Given the description of an element on the screen output the (x, y) to click on. 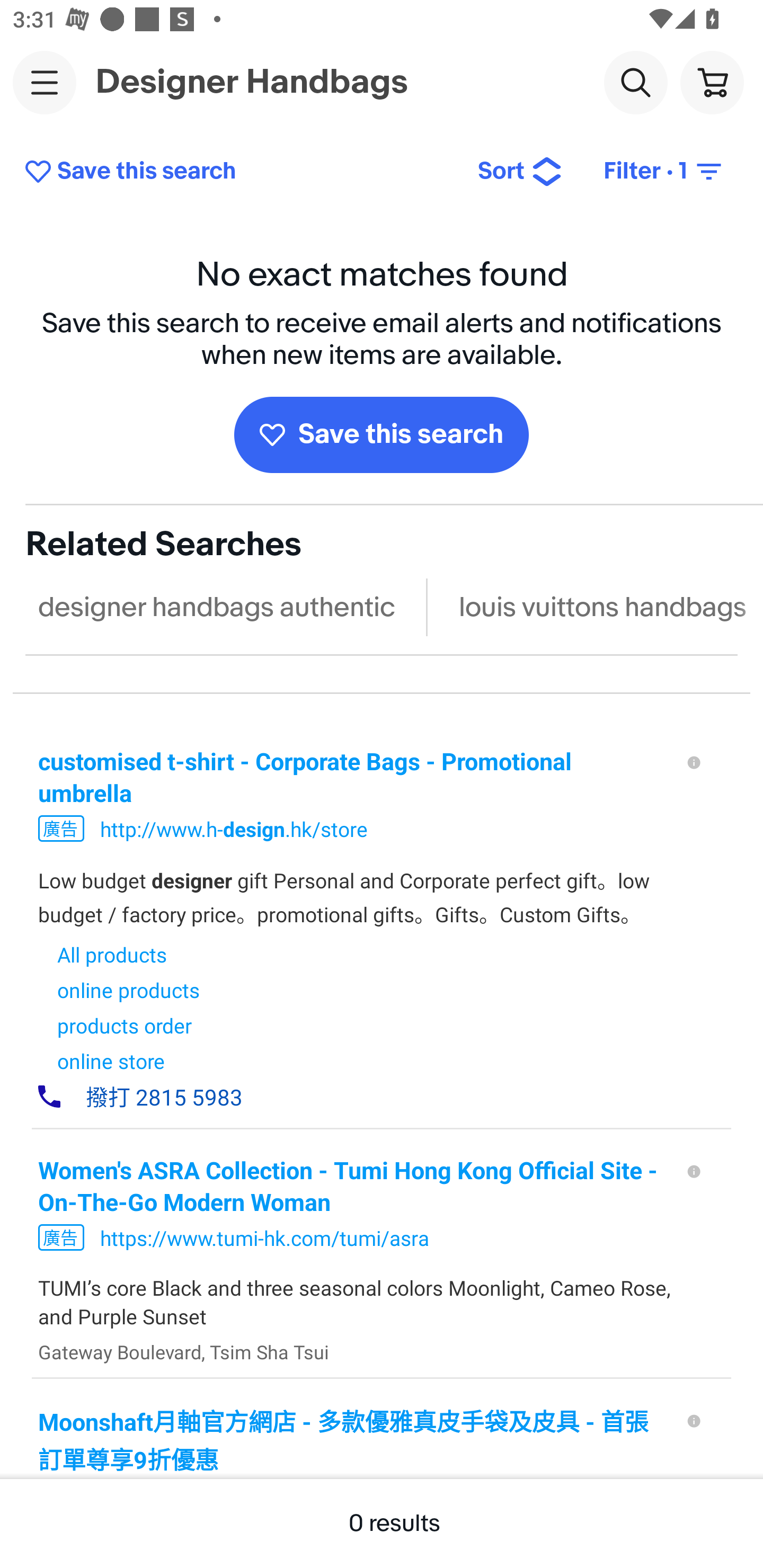
Main navigation, open (44, 82)
Search (635, 81)
Cart button shopping cart (711, 81)
Save this search (237, 171)
Sort (520, 171)
Filter • 1 Filter (1 applied) (663, 171)
Save this search (381, 434)
designer handbags authentic (216, 607)
louis vuittons handbags (602, 607)
http://www.h-design.hk/store (233, 828)
All products (128, 954)
online products (128, 990)
products order (128, 1025)
online store (128, 1060)
撥打 2815 5983 (140, 1096)
https://www.tumi-hk.com/tumi/asra (263, 1237)
Moonshaft月軸官方網店 - 多款優雅真皮手袋及皮具 - 首張訂單尊享9折優惠 (353, 1439)
